Given the description of an element on the screen output the (x, y) to click on. 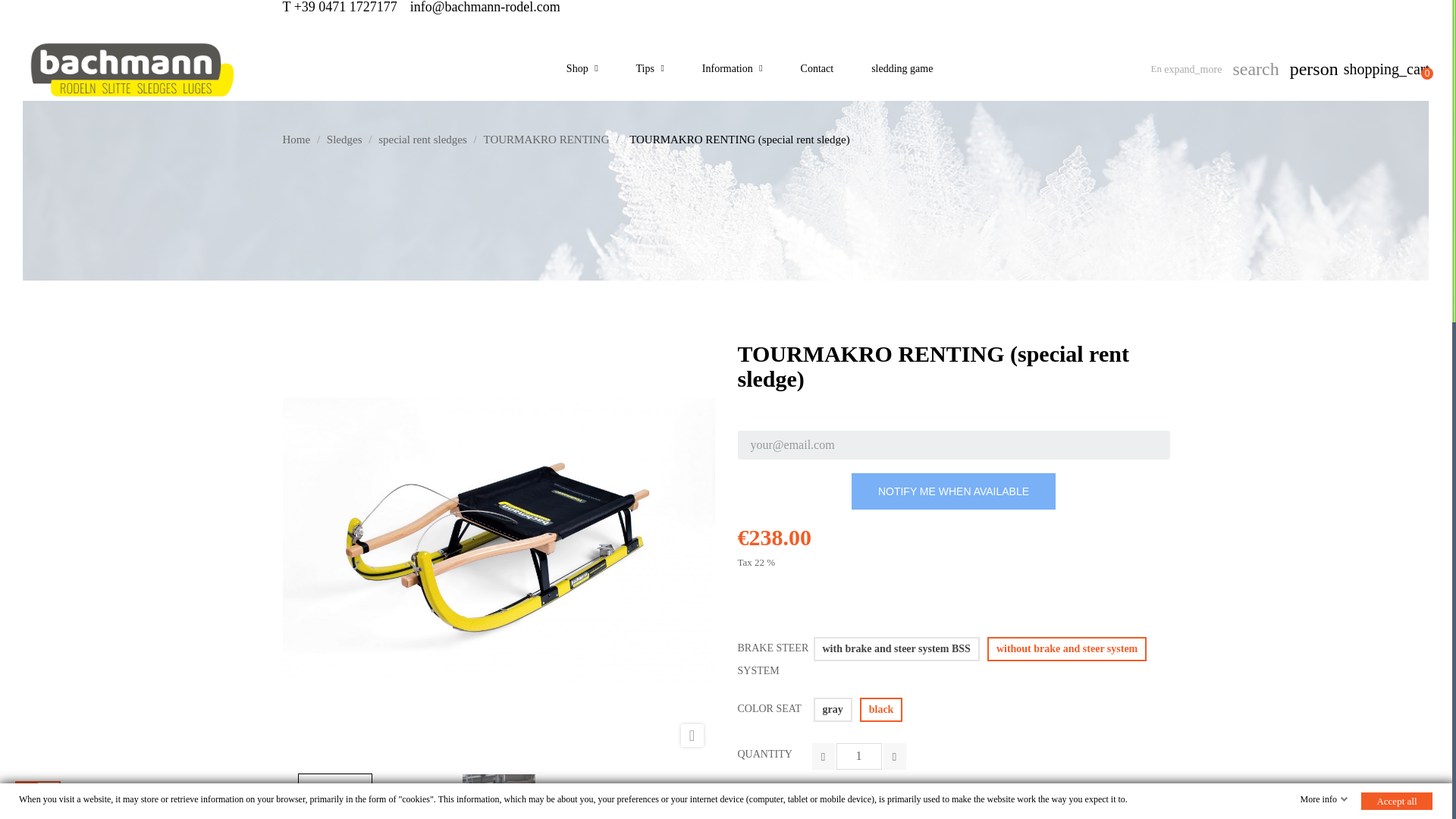
search (1254, 69)
1 (857, 755)
Information (731, 68)
Shop (582, 68)
Account (1313, 68)
Contact (817, 68)
Tips (649, 68)
sledding game (901, 68)
Language (1185, 68)
